Given the description of an element on the screen output the (x, y) to click on. 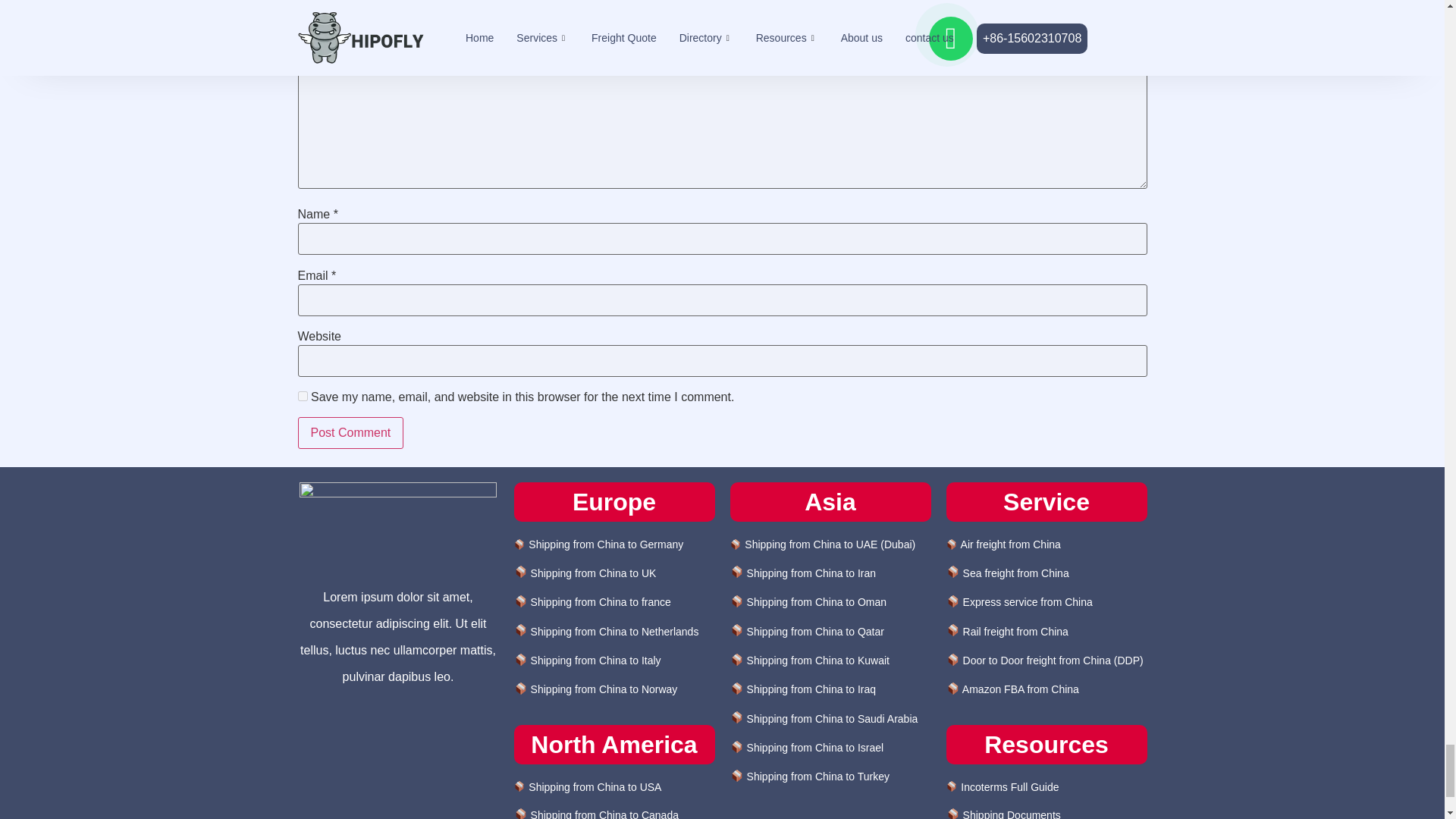
yes (302, 396)
Post Comment (350, 432)
